Given the description of an element on the screen output the (x, y) to click on. 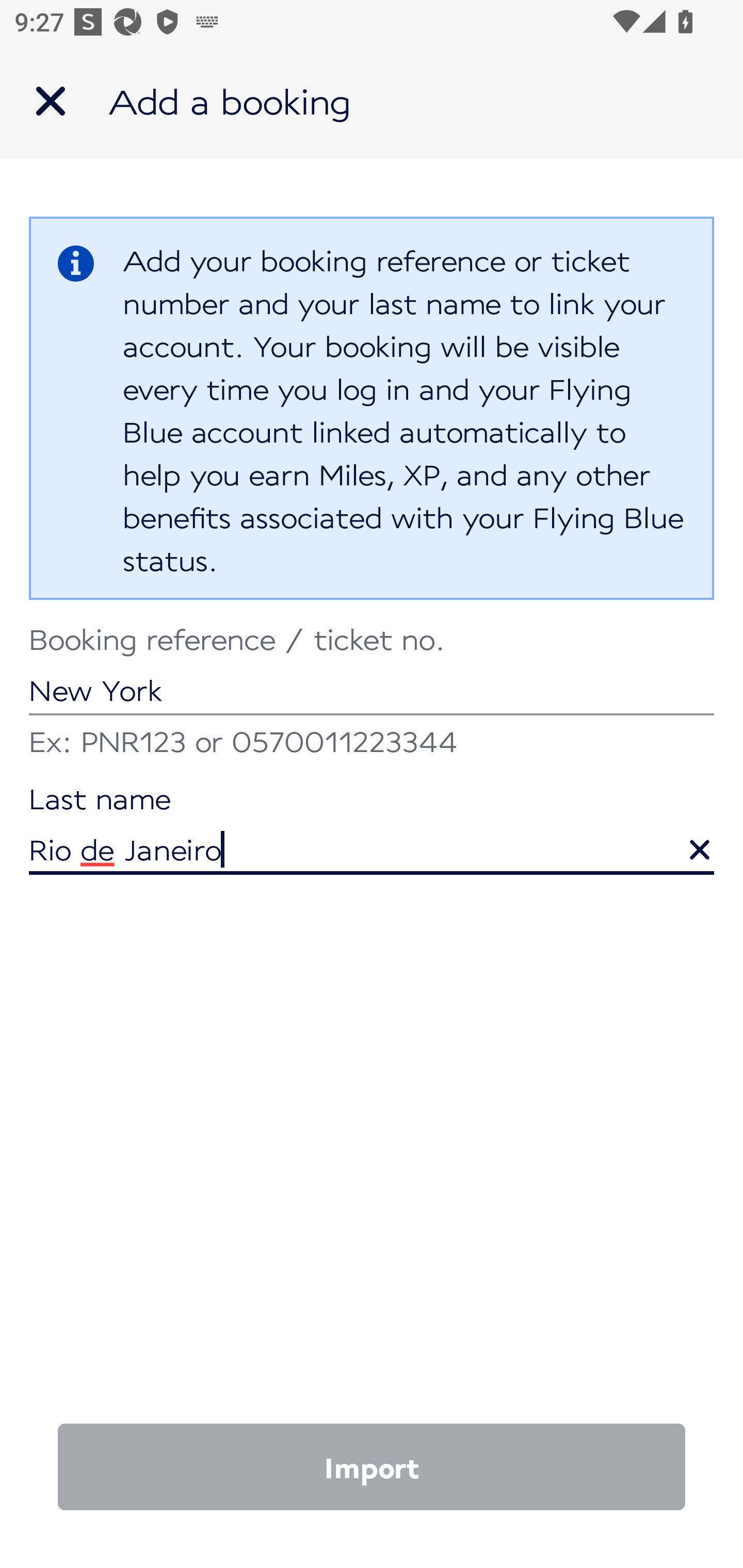
New York Ex: PNR123 or 0570011223344 (371, 693)
New York (371, 671)
Rio de Janeiro Clear text (371, 831)
Clear text (685, 839)
Import (371, 1466)
